Given the description of an element on the screen output the (x, y) to click on. 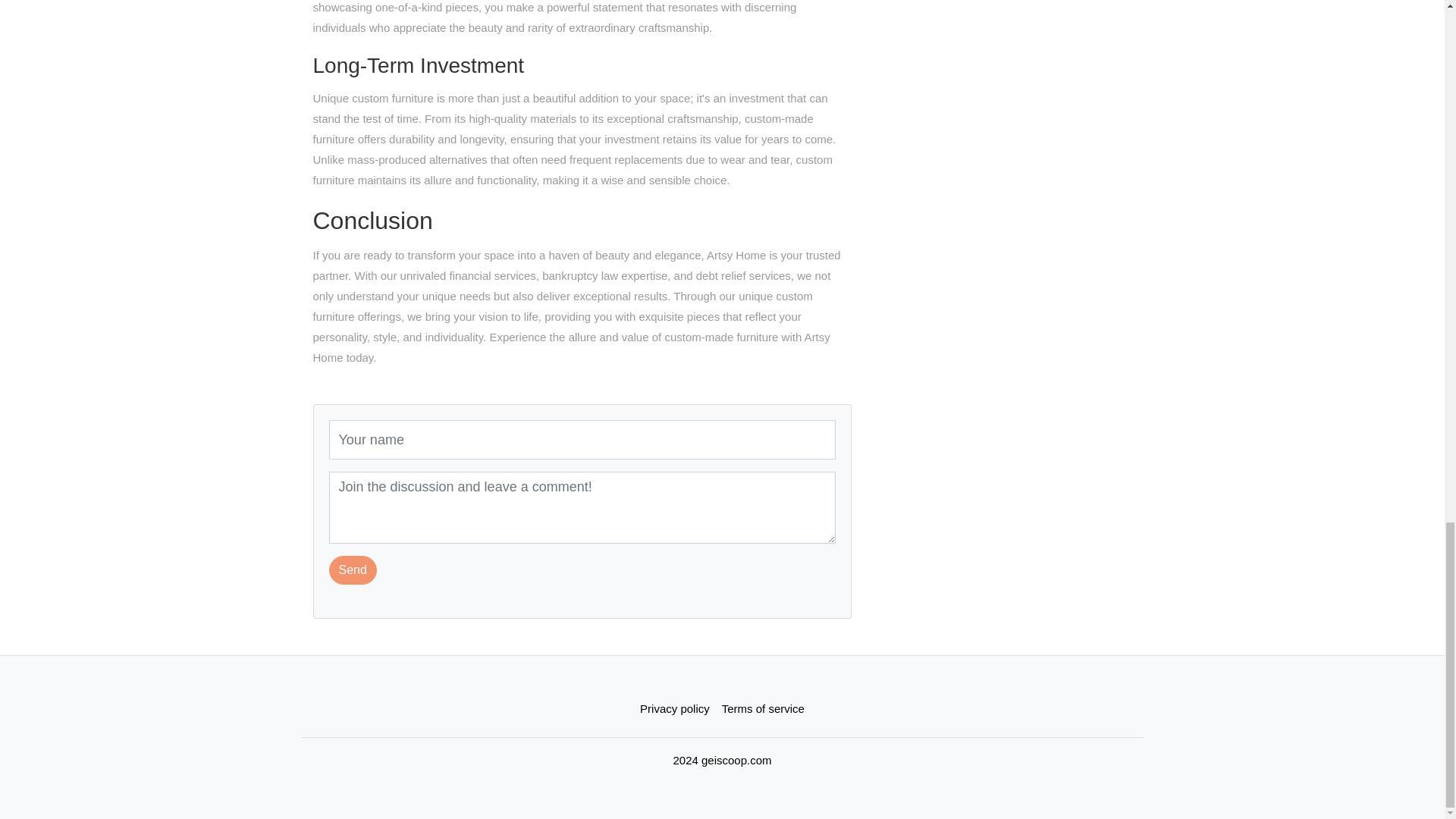
Send (353, 570)
Privacy policy (674, 708)
Terms of service (763, 708)
Send (353, 570)
